Given the description of an element on the screen output the (x, y) to click on. 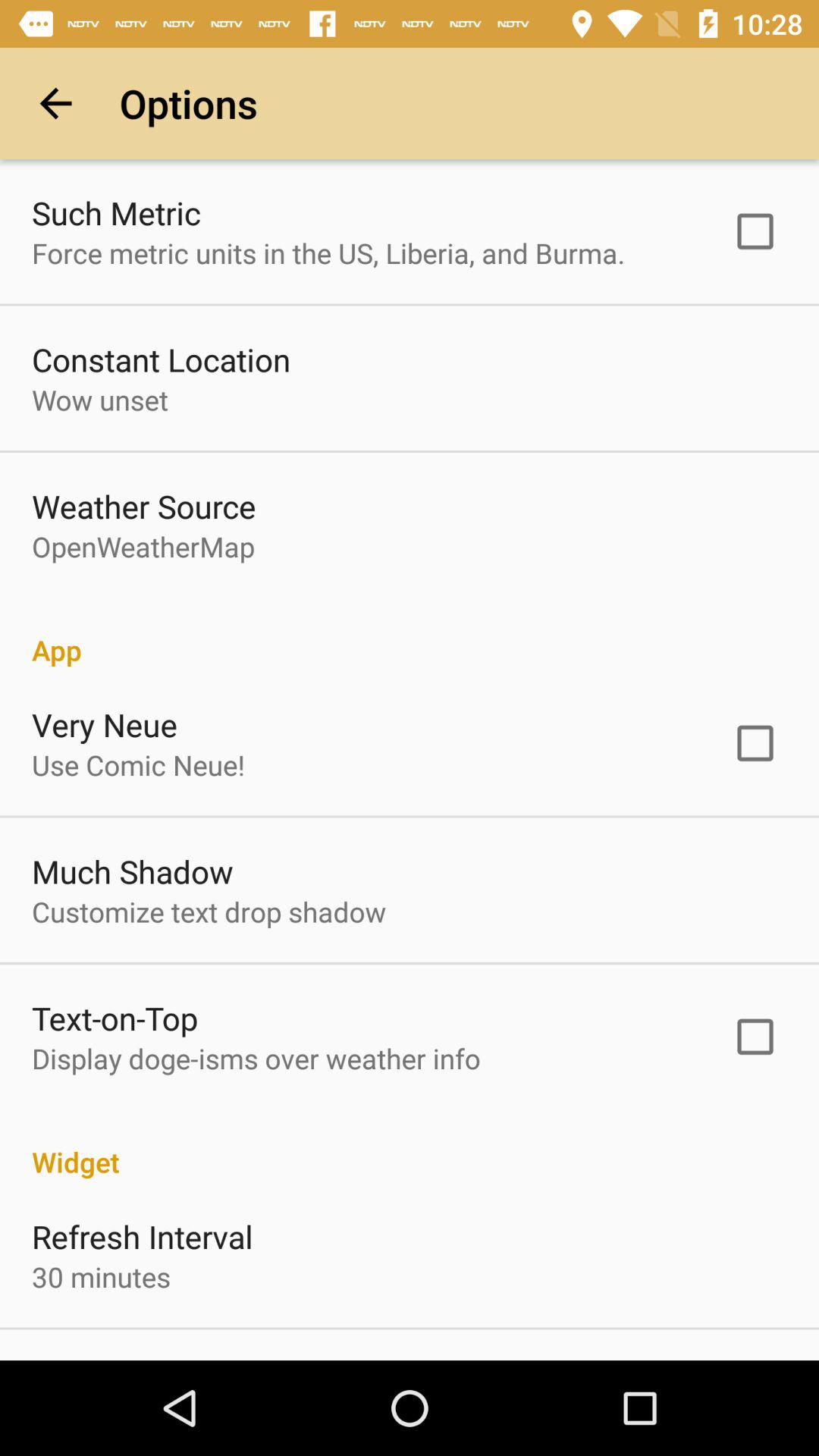
turn on weather source (143, 505)
